Given the description of an element on the screen output the (x, y) to click on. 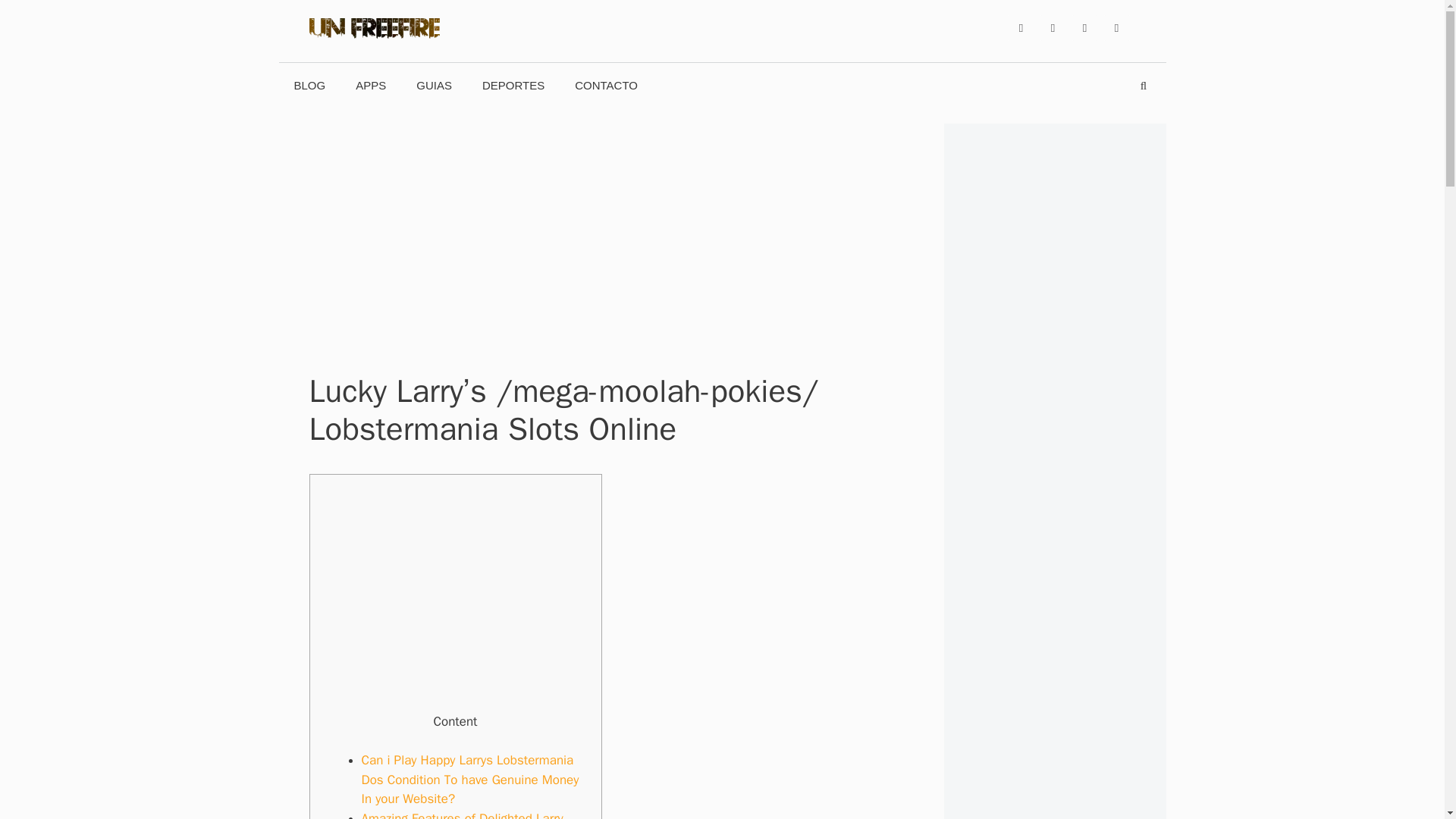
Facebook (1021, 27)
CONTACTO (605, 84)
UnFreeFire (373, 29)
YouTube (1084, 27)
Amazing Features of Delighted Larry Lobstermania Harbors (461, 814)
Instagram (1116, 27)
BLOG (309, 84)
GUIAS (434, 84)
Twitter (1053, 27)
UnFreeFire (373, 36)
DEPORTES (513, 84)
APPS (370, 84)
Advertisement (455, 599)
